Given the description of an element on the screen output the (x, y) to click on. 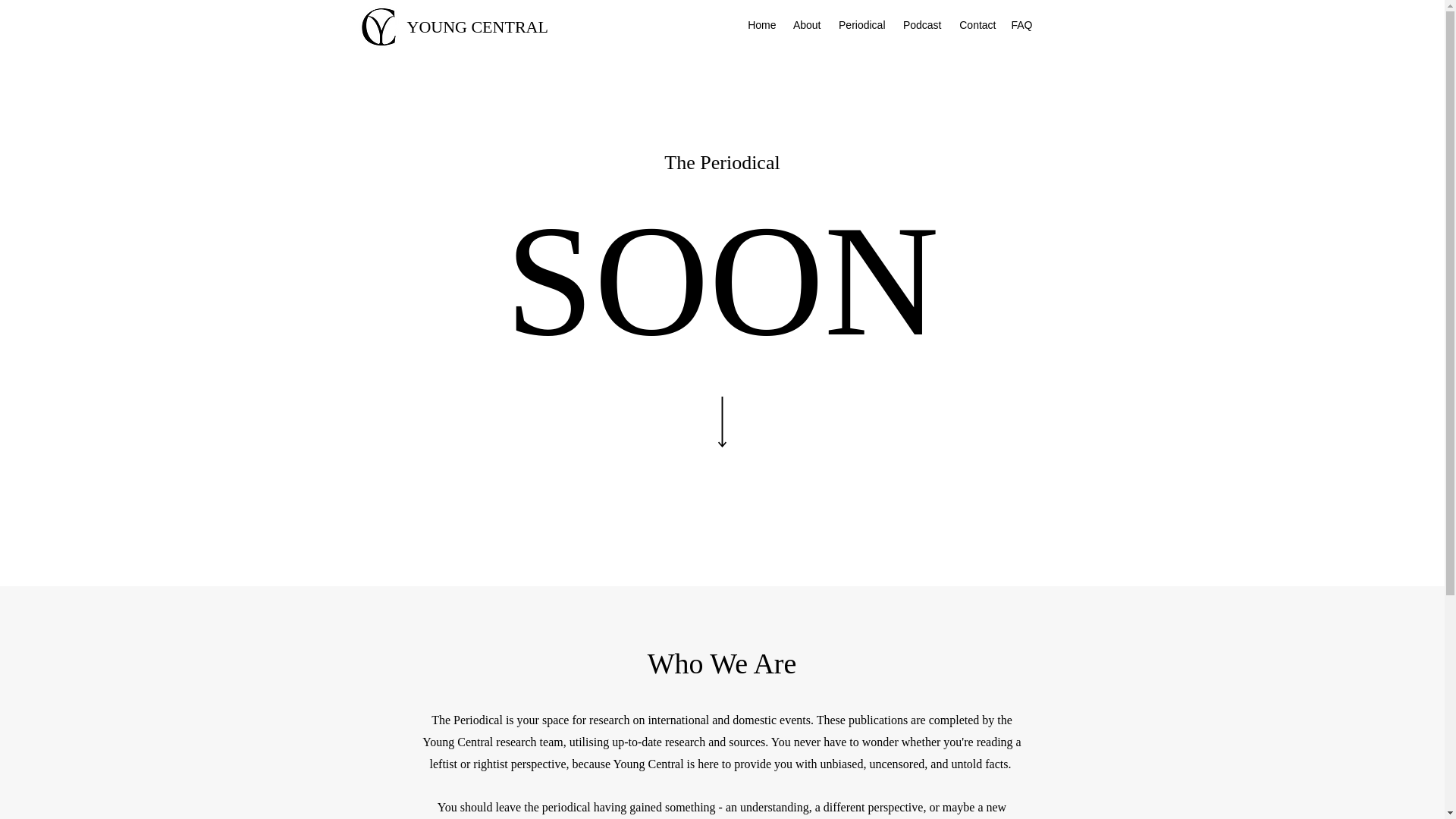
YOUNG CENTRAL (476, 26)
Contact (976, 24)
Home (760, 24)
Periodical (860, 24)
Podcast (921, 24)
FAQ (1021, 24)
Original.png (378, 26)
About (806, 24)
